Given the description of an element on the screen output the (x, y) to click on. 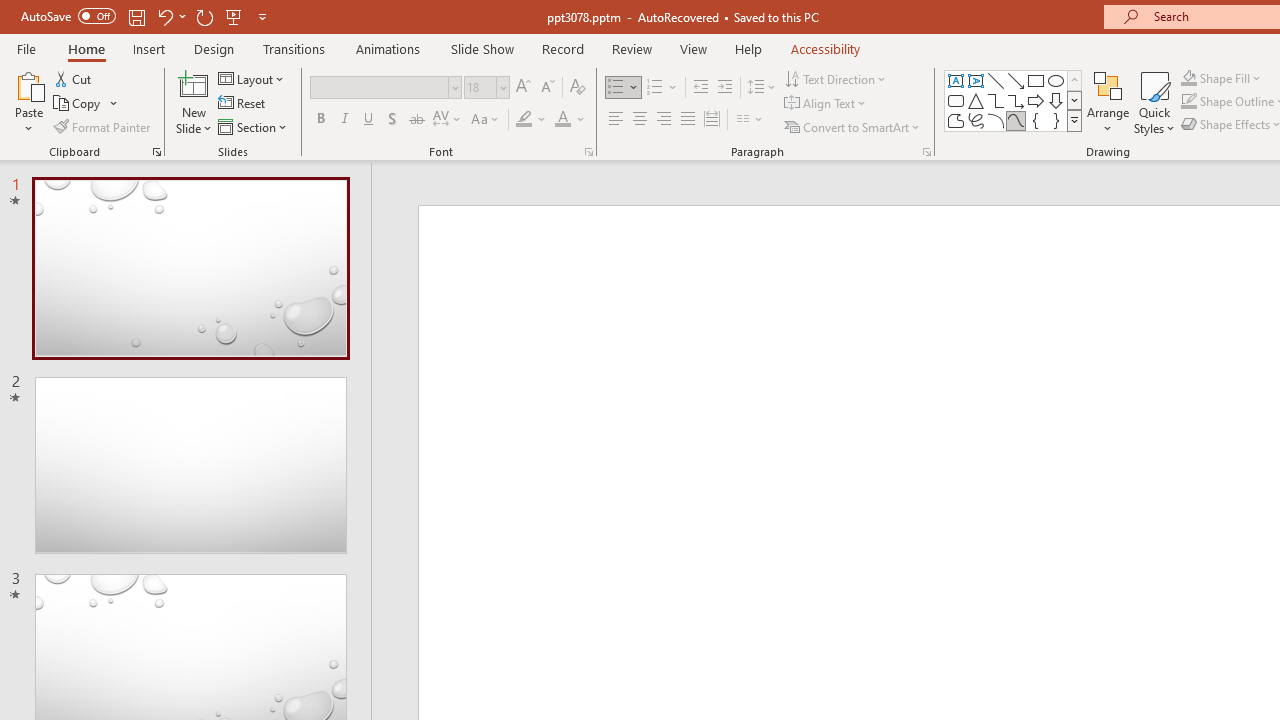
Align Right (663, 119)
Paragraph... (926, 151)
Text Highlight Color Yellow (524, 119)
Text Direction (836, 78)
